Given the description of an element on the screen output the (x, y) to click on. 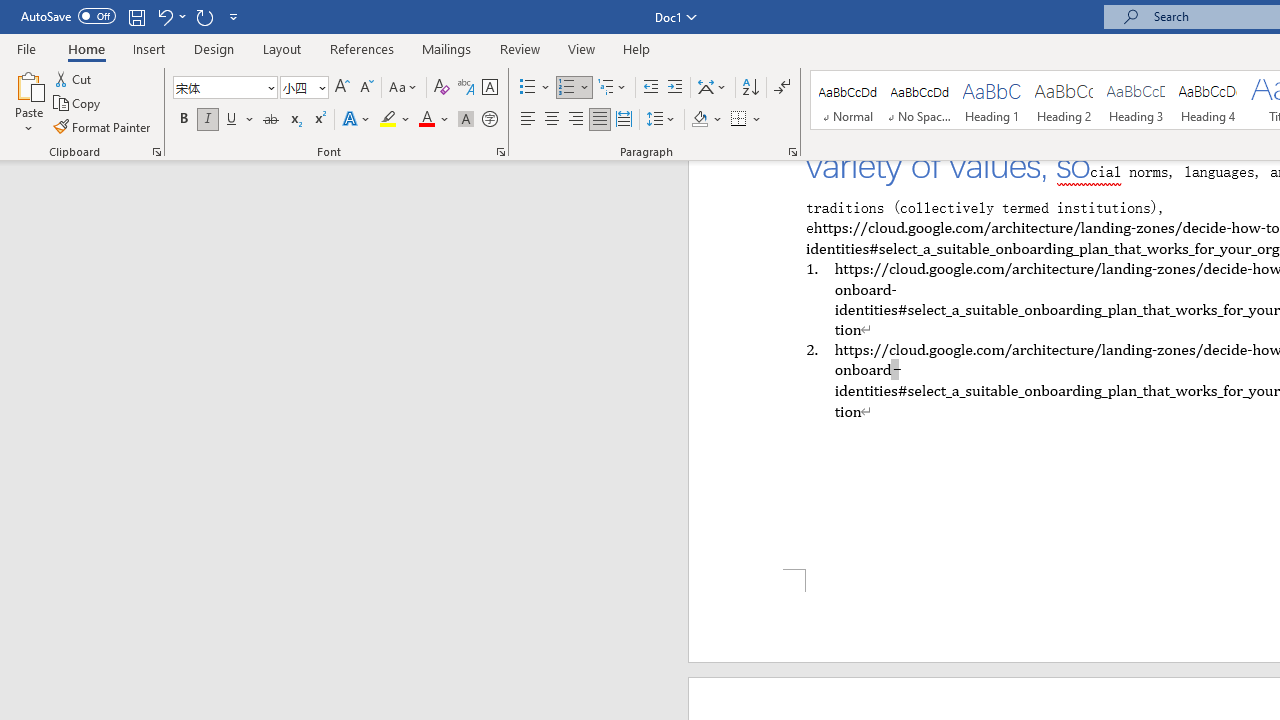
Font Color Automatic (426, 119)
Heading 3 (1135, 100)
